Given the description of an element on the screen output the (x, y) to click on. 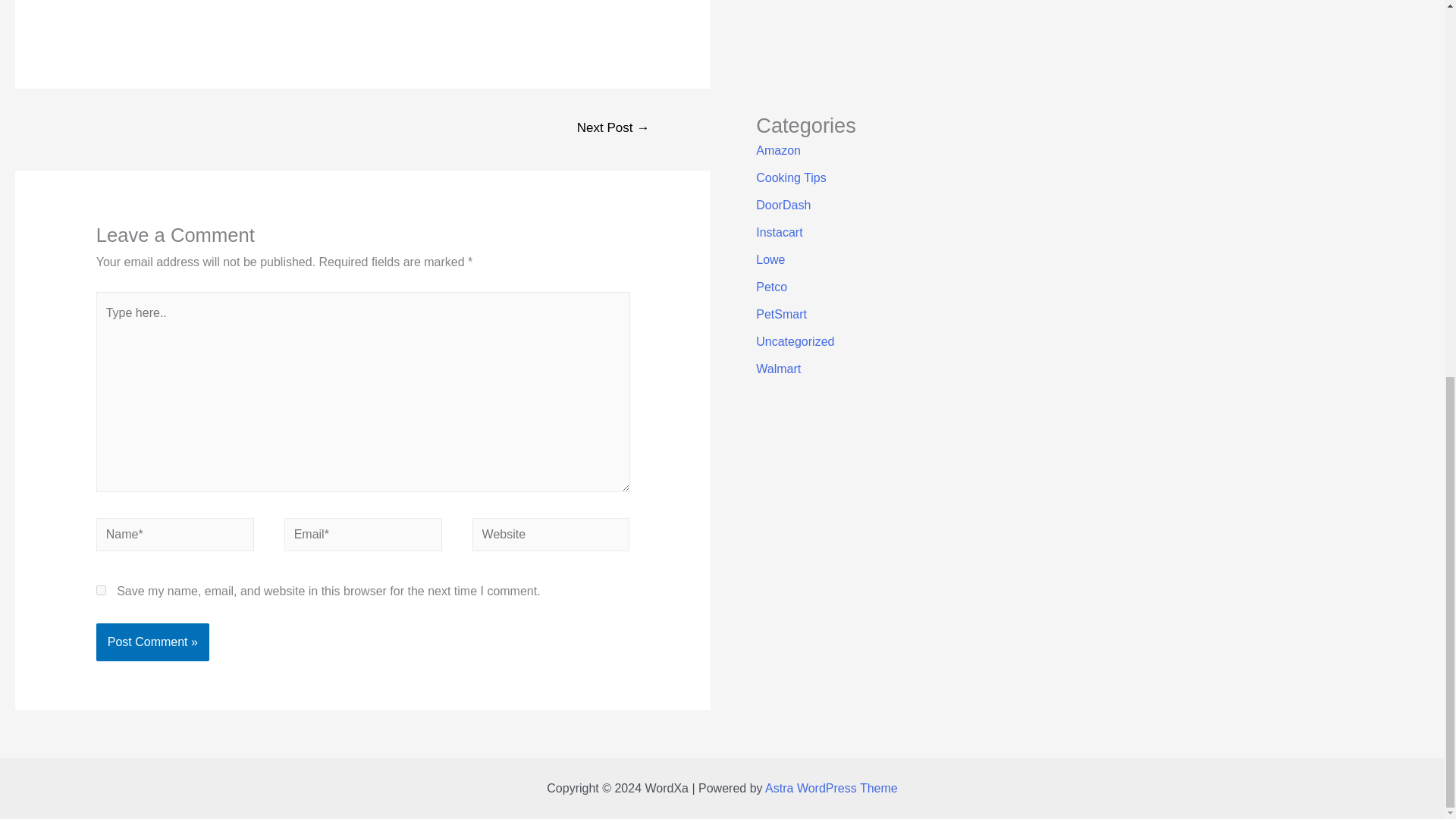
Cooking Tips (791, 177)
Petco (771, 286)
Instacart (778, 232)
Lowe (769, 259)
yes (101, 590)
PetSmart (780, 314)
DoorDash (782, 205)
Amazon (777, 150)
